Given the description of an element on the screen output the (x, y) to click on. 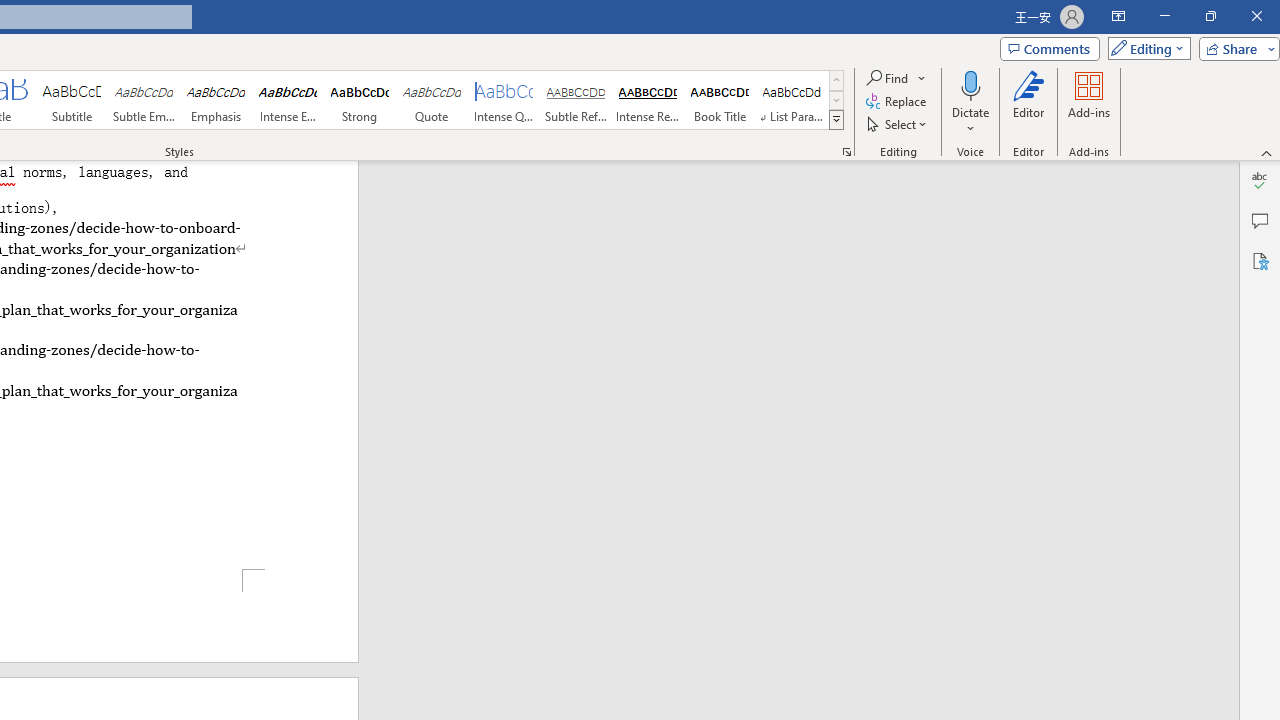
Book Title (719, 100)
Subtle Reference (575, 100)
Emphasis (216, 100)
Intense Emphasis (287, 100)
Subtle Emphasis (143, 100)
Quote (431, 100)
Intense Quote (504, 100)
Accessibility (1260, 260)
Editing (1144, 47)
